Given the description of an element on the screen output the (x, y) to click on. 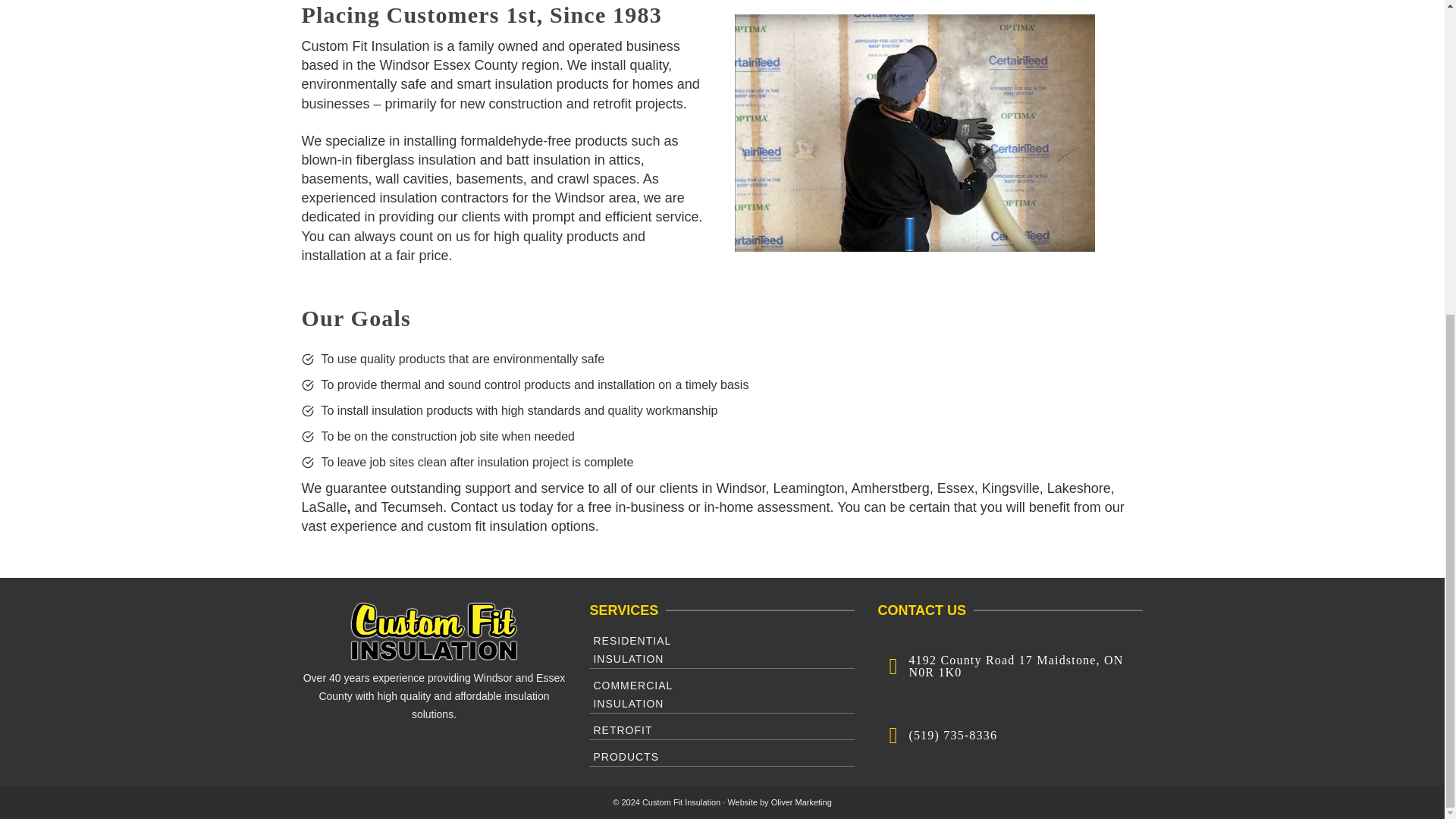
Oliver Marketing (801, 801)
PRODUCTS (721, 648)
RETROFIT (721, 754)
